Given the description of an element on the screen output the (x, y) to click on. 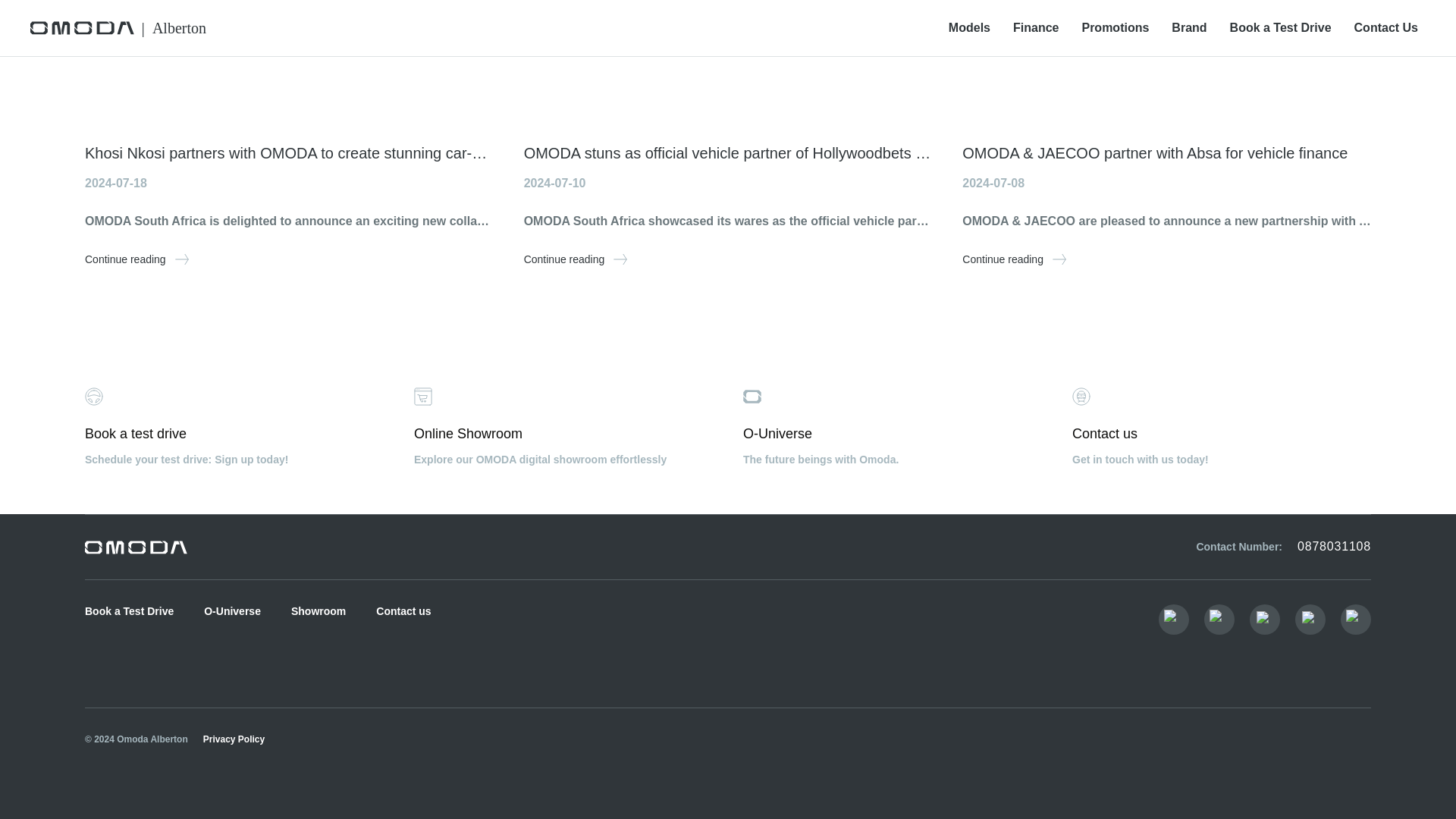
O-Universe (231, 611)
Continue reading (575, 258)
Continue reading (1221, 426)
Showroom (1013, 258)
Continue reading (318, 611)
Contact us (136, 258)
Book a Test Drive (402, 611)
0878031108 (128, 611)
